Given the description of an element on the screen output the (x, y) to click on. 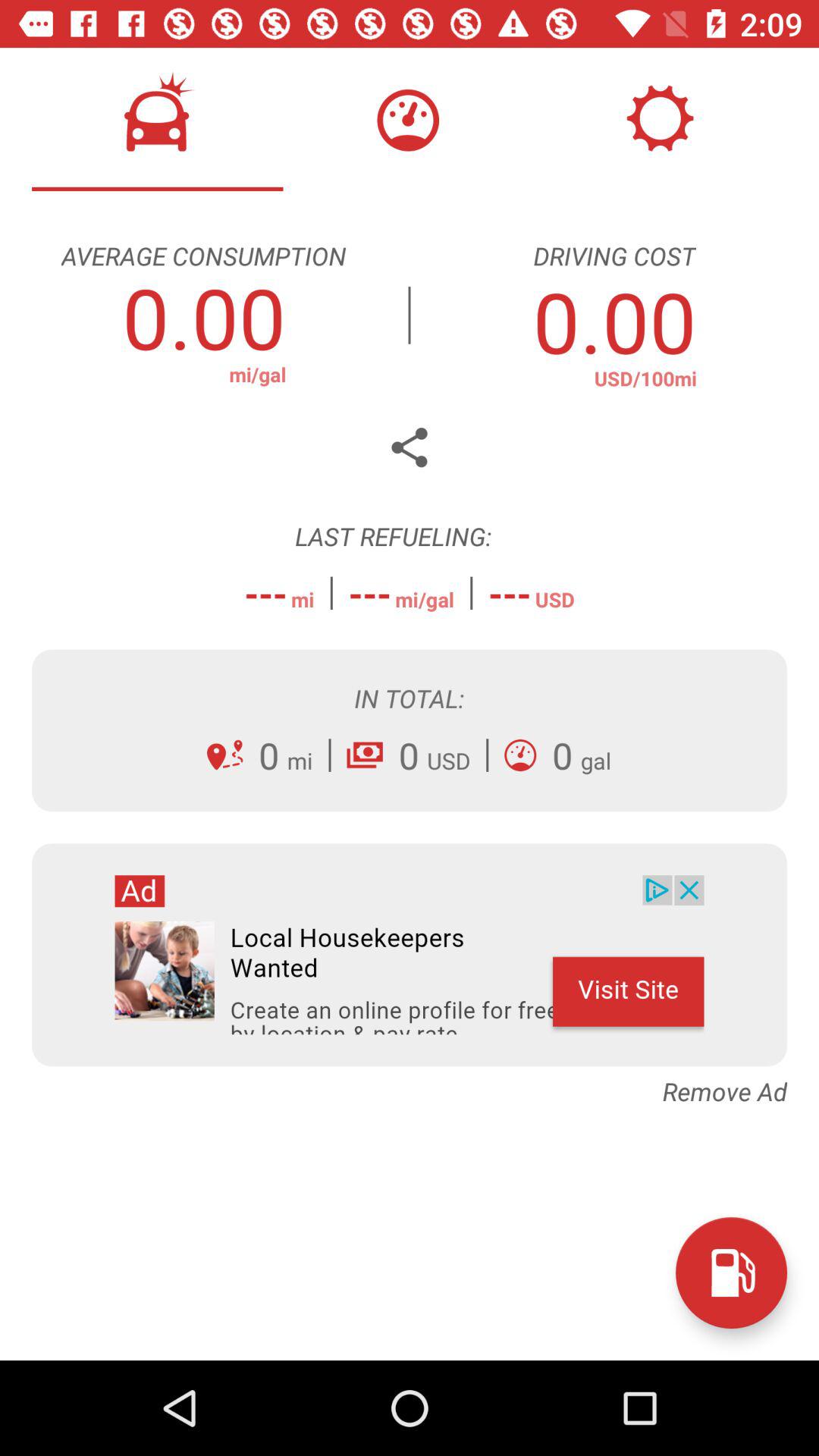
advertising (409, 954)
